Given the description of an element on the screen output the (x, y) to click on. 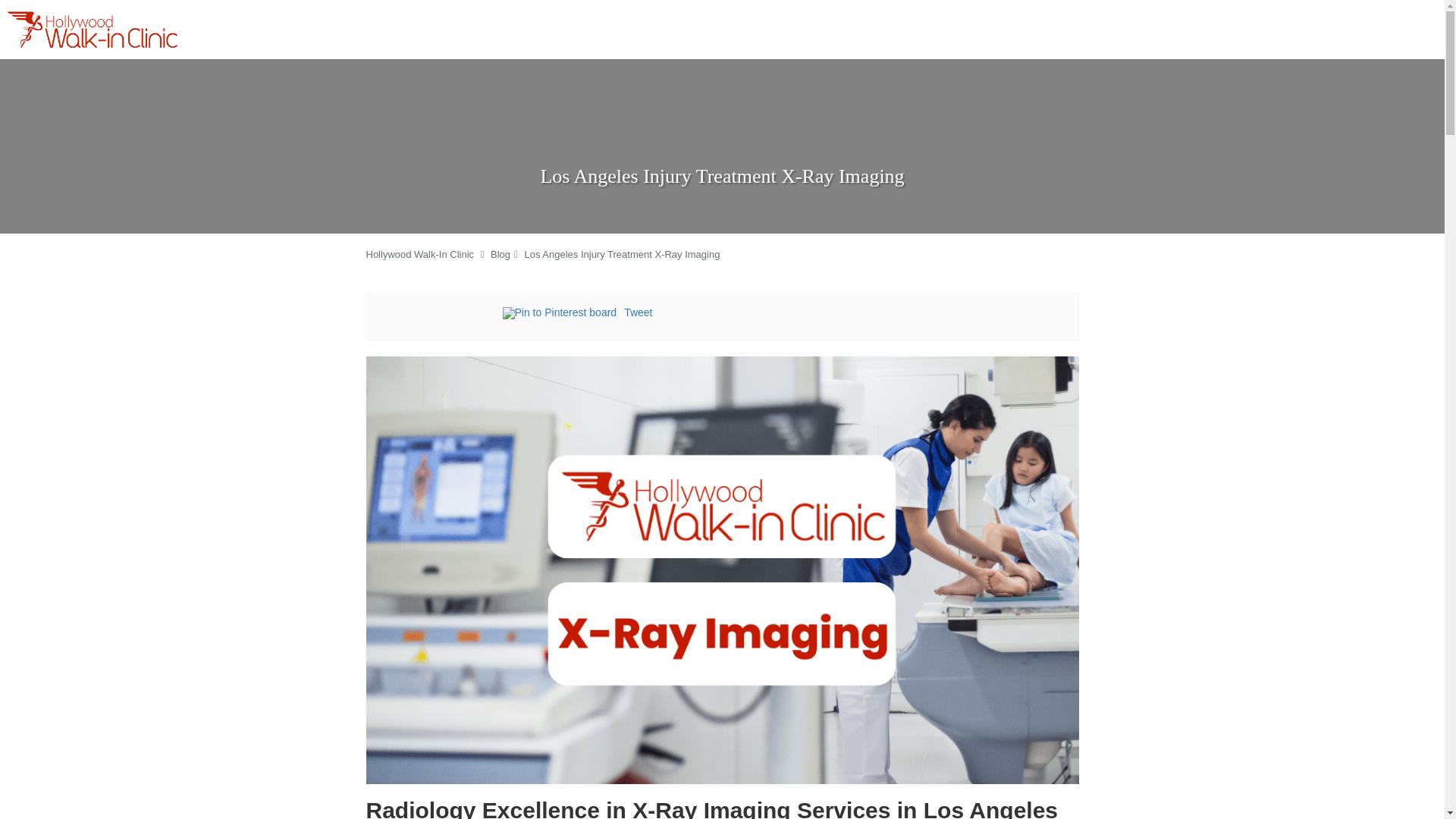
Los Angeles Injury Treatment X-Ray Imaging (621, 254)
Blog (500, 254)
Skip to main content (74, 7)
Facebook social button (441, 314)
Hollywood Walk-In Clinic (419, 254)
